Given the description of an element on the screen output the (x, y) to click on. 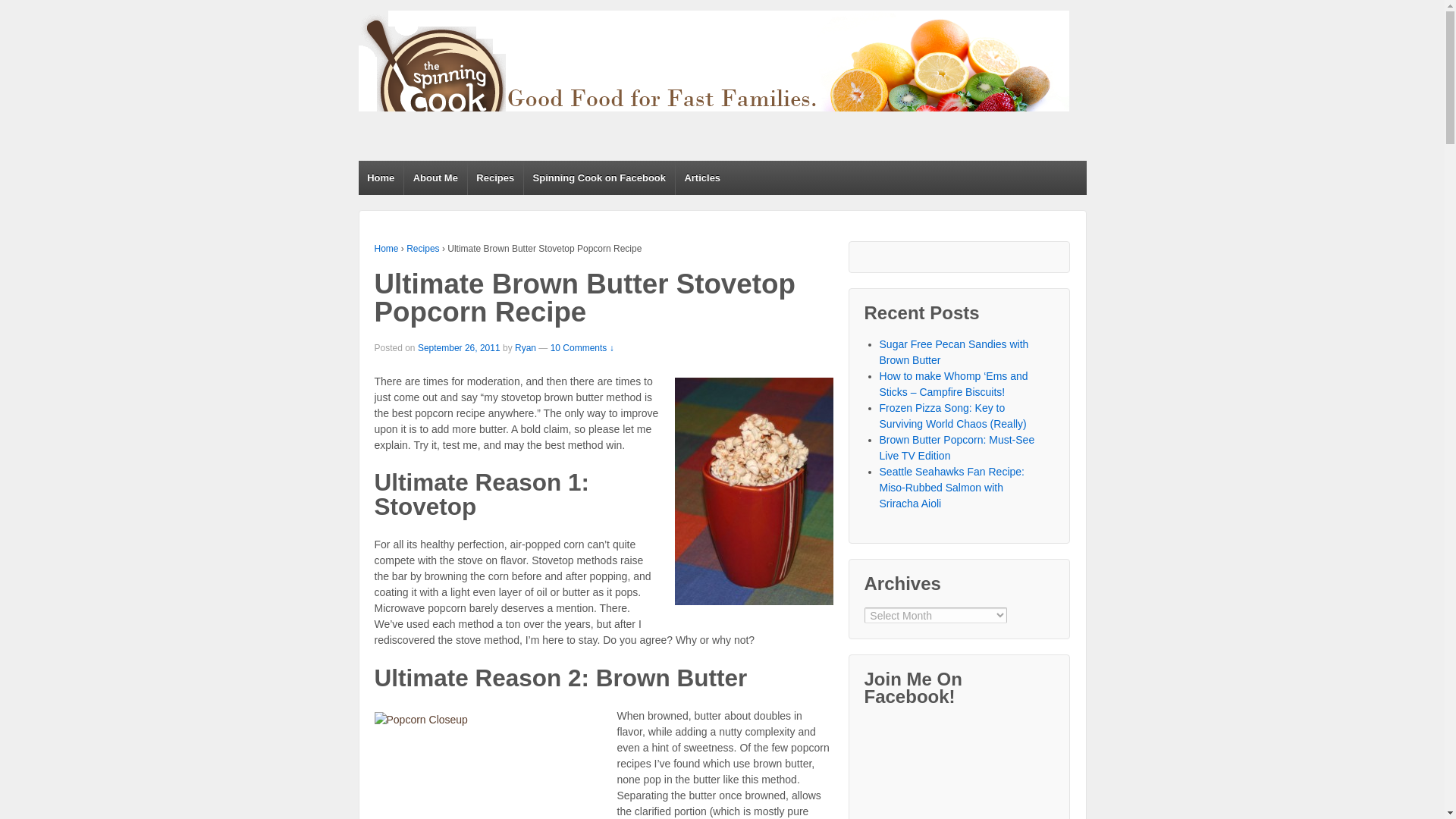
Articles (702, 177)
Recipes (494, 177)
About Me (435, 177)
Home (386, 248)
Ryan (525, 347)
Home (380, 177)
Ultimate Brown Butter Stovetop Popcorn Recipe (458, 347)
Brown Butter Popcorn Closeup (488, 765)
View all posts by Ryan (525, 347)
September 26, 2011 (458, 347)
